Given the description of an element on the screen output the (x, y) to click on. 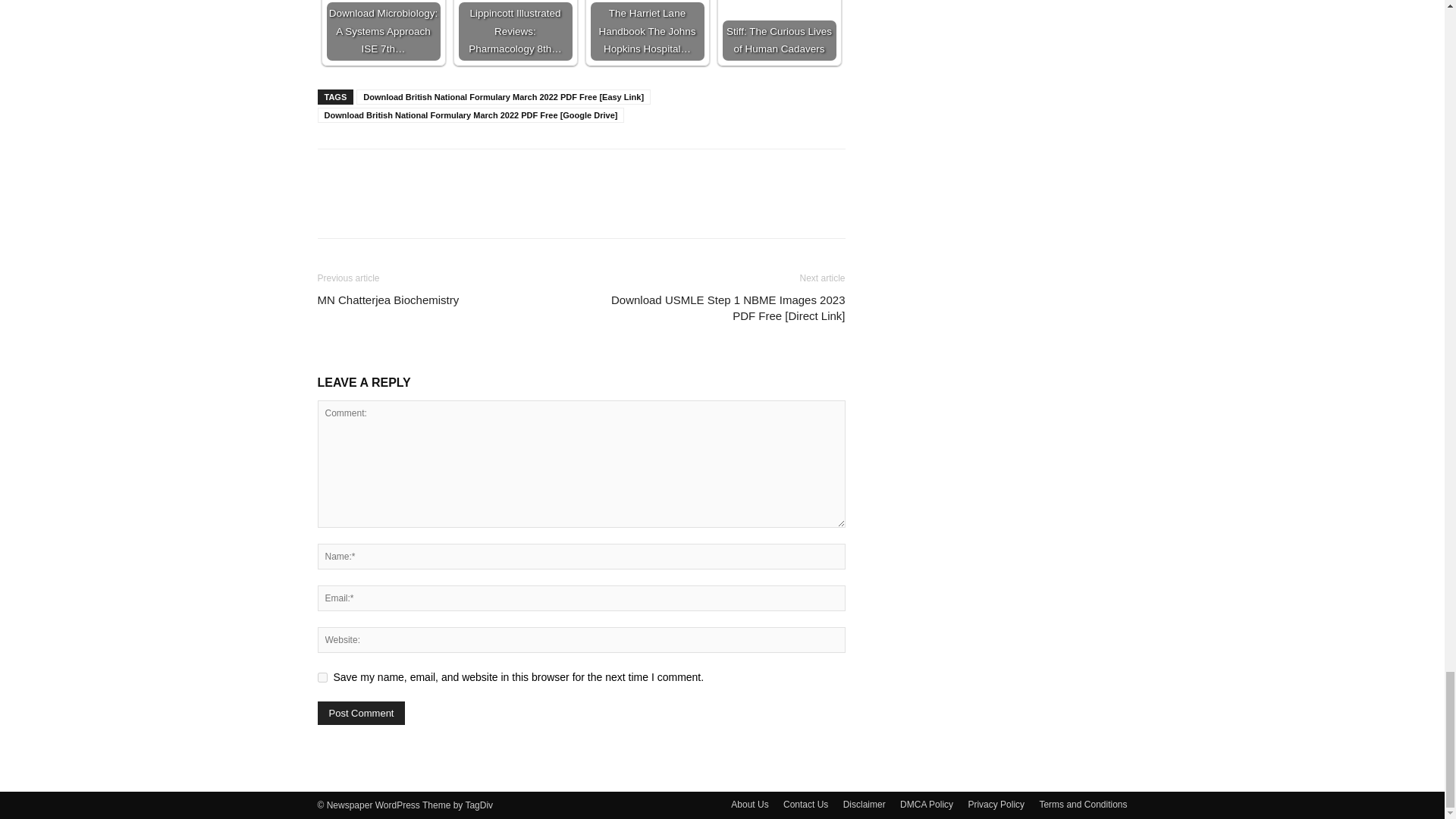
Post Comment (360, 712)
yes (321, 677)
